Given the description of an element on the screen output the (x, y) to click on. 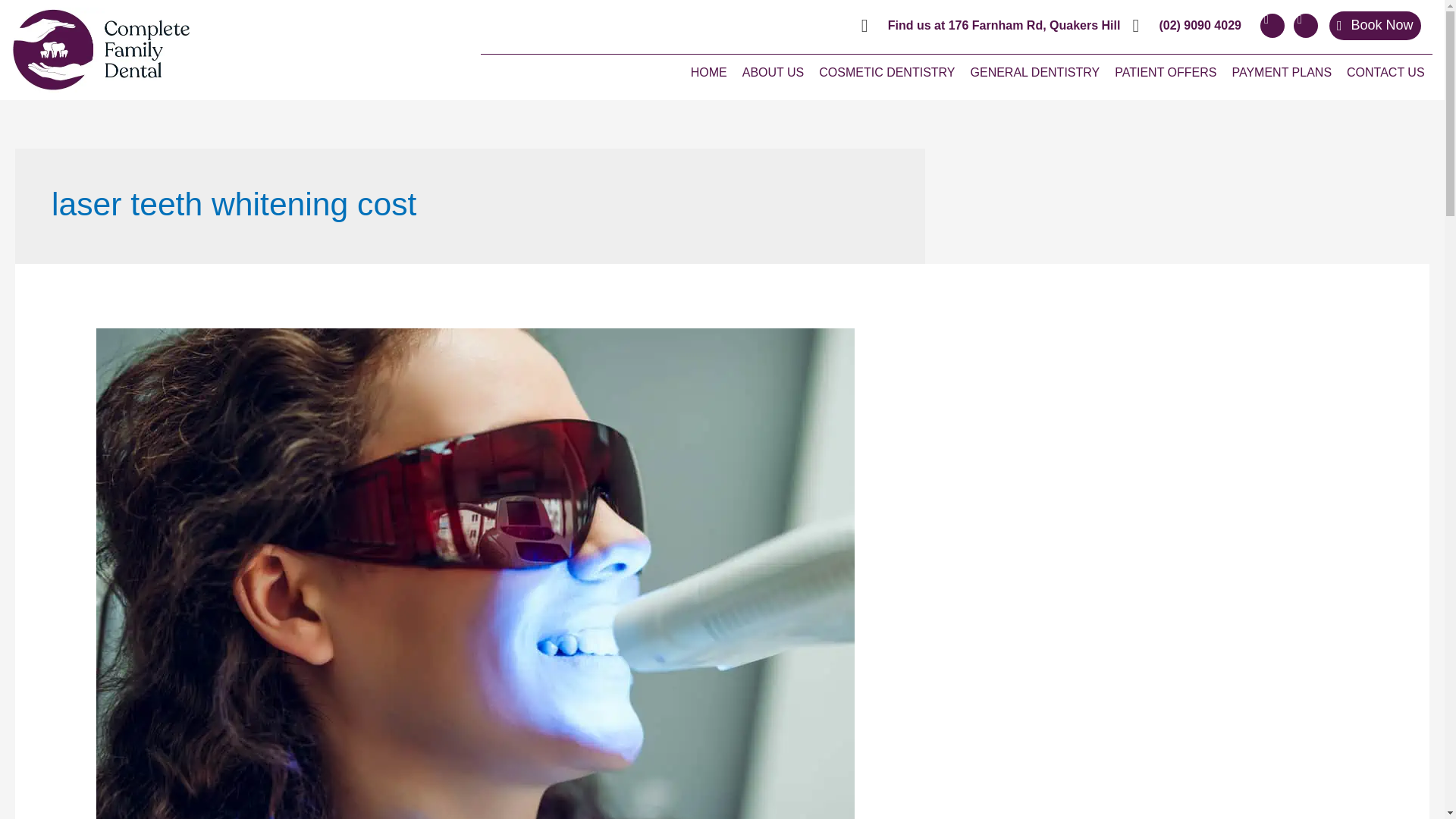
PATIENT OFFERS (1165, 72)
HOME (708, 72)
COSMETIC DENTISTRY (886, 72)
Book Now (1375, 25)
Find us at 176 Farnham Rd, Quakers Hill (991, 25)
GENERAL DENTISTRY (1035, 72)
ABOUT US (773, 72)
CONTACT US (1385, 72)
PAYMENT PLANS (1281, 72)
